Given the description of an element on the screen output the (x, y) to click on. 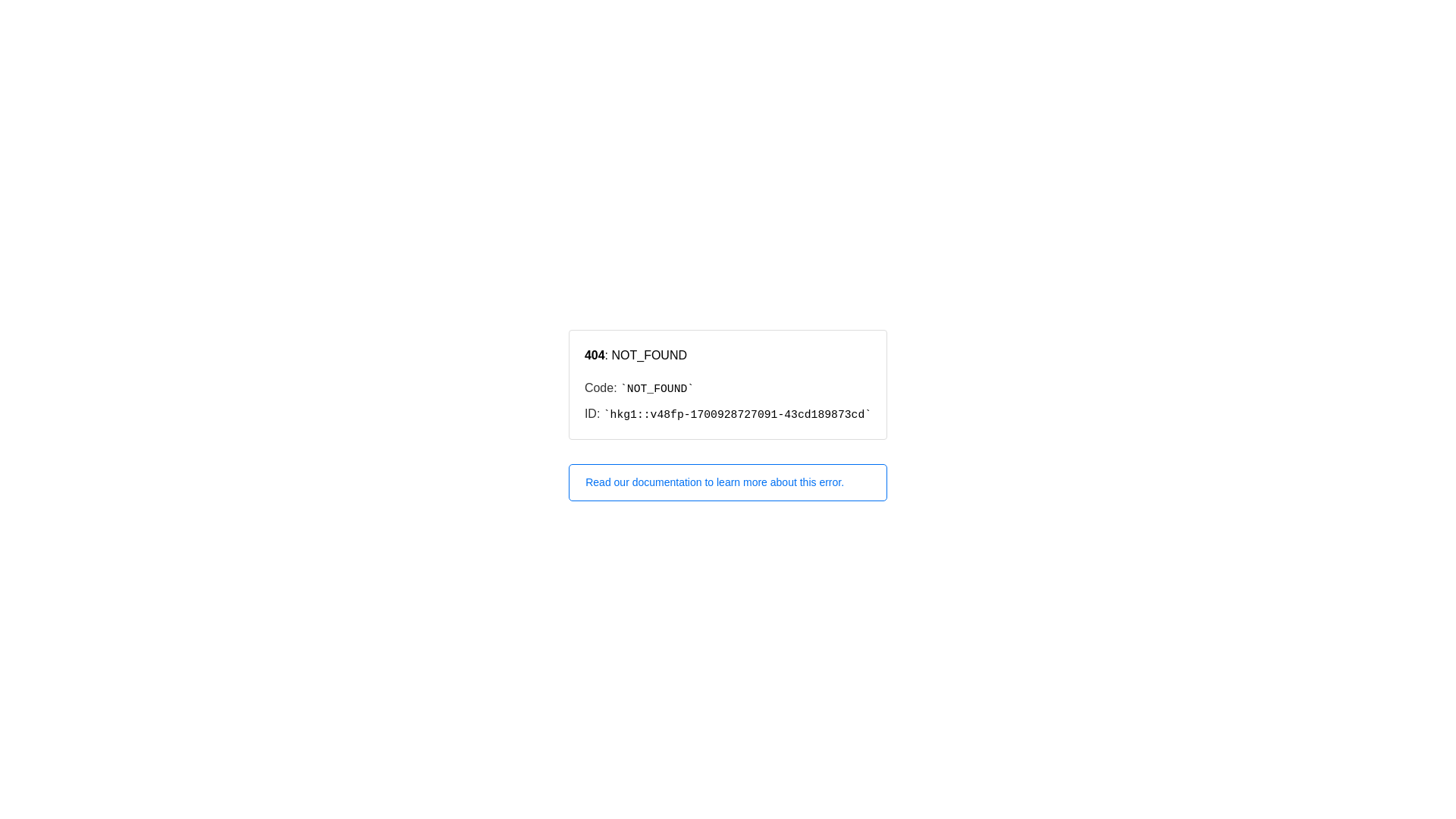
Read our documentation to learn more about this error. Element type: text (727, 482)
